Given the description of an element on the screen output the (x, y) to click on. 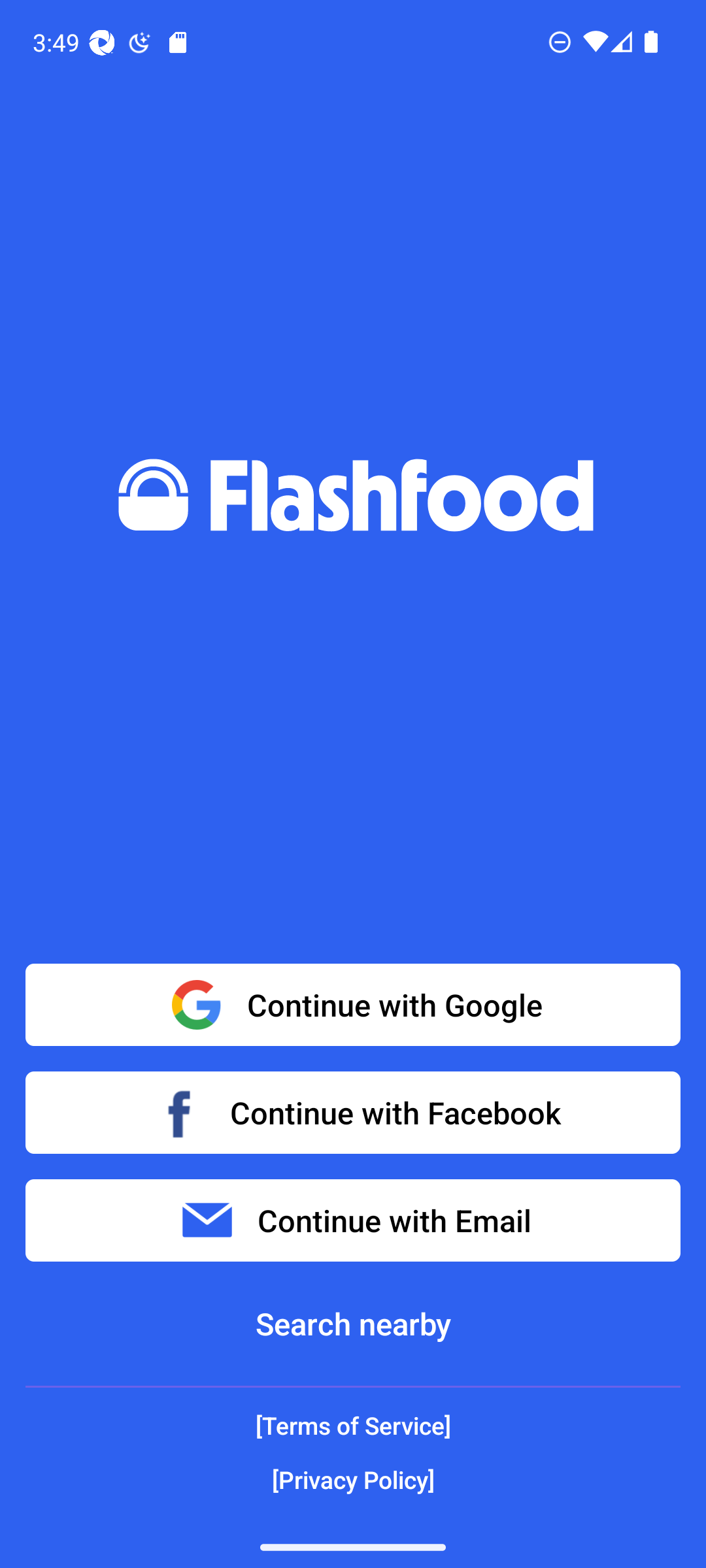
Continue with Google (352, 1004)
Continue with Facebook (352, 1112)
Continue with Email (352, 1220)
Search nearby (352, 1323)
[Terms of Service] (352, 1425)
[Privacy Policy] (352, 1478)
